Given the description of an element on the screen output the (x, y) to click on. 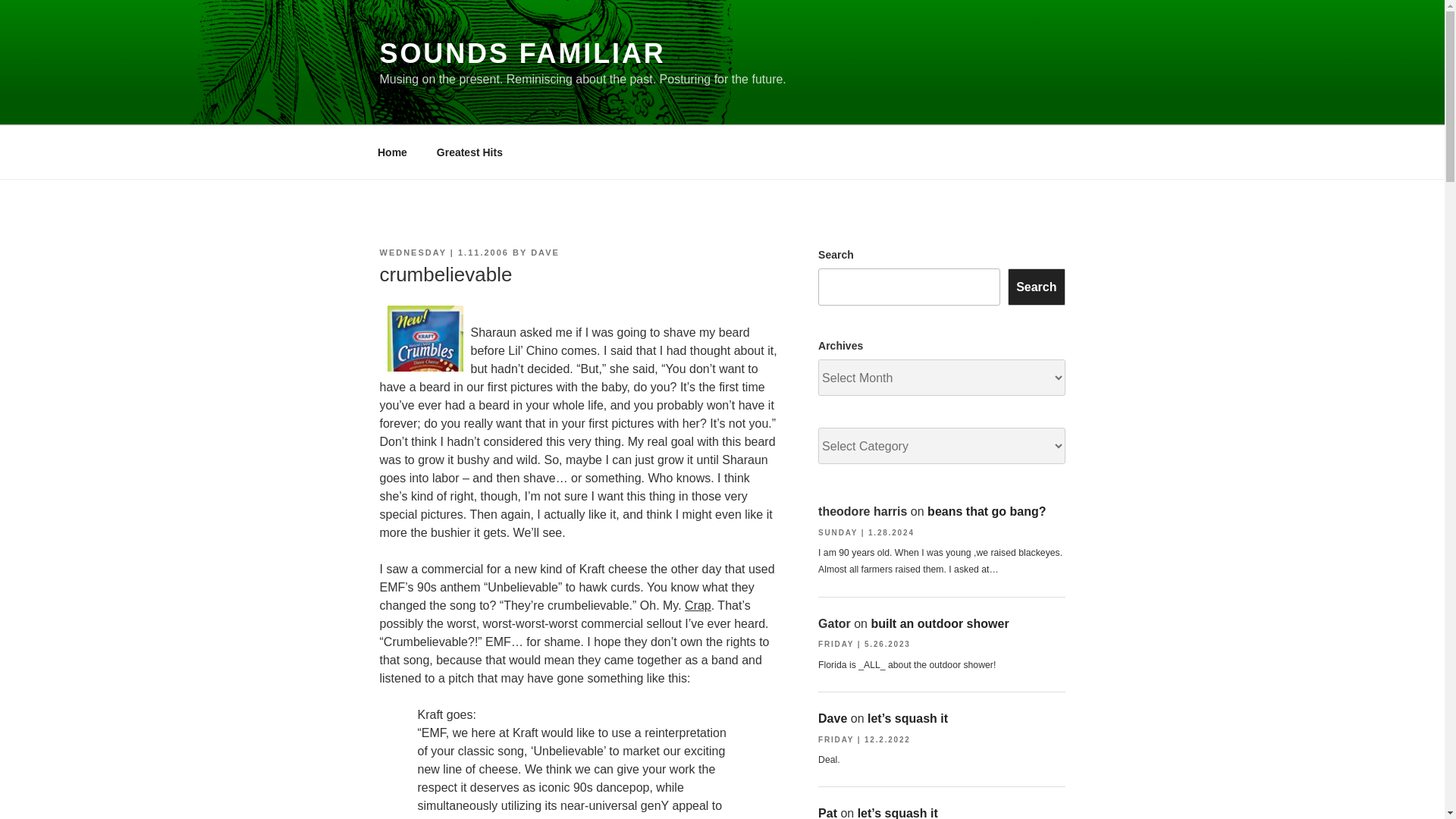
Pat (827, 812)
Home (392, 151)
SOUNDS FAMILIAR (521, 52)
Search (1035, 286)
beans that go bang? (986, 511)
DAVE (545, 252)
Dave (832, 717)
Greatest Hits (469, 151)
built an outdoor shower (939, 623)
